Given the description of an element on the screen output the (x, y) to click on. 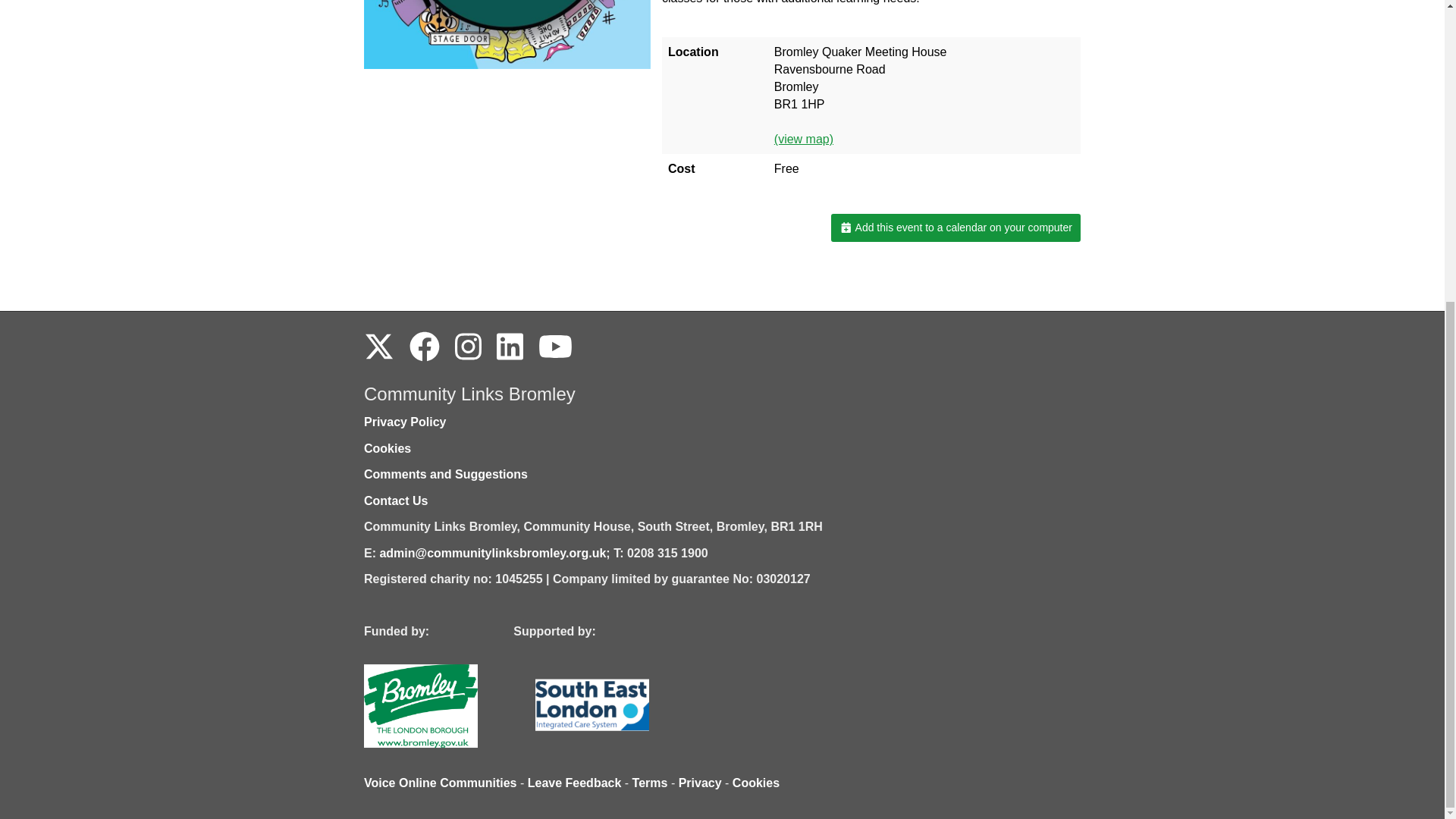
Facebook (424, 346)
Email Community Links Bromley (491, 553)
YouTube (555, 346)
Facebook (424, 346)
Link to Bromley Council website (446, 704)
YouTube (555, 346)
Link to Community Links Bromley's Privacy Policy (405, 421)
Contact Community Links Bromley (396, 500)
Link to Community Link Bromley's Use of Cookies page (387, 448)
